Given the description of an element on the screen output the (x, y) to click on. 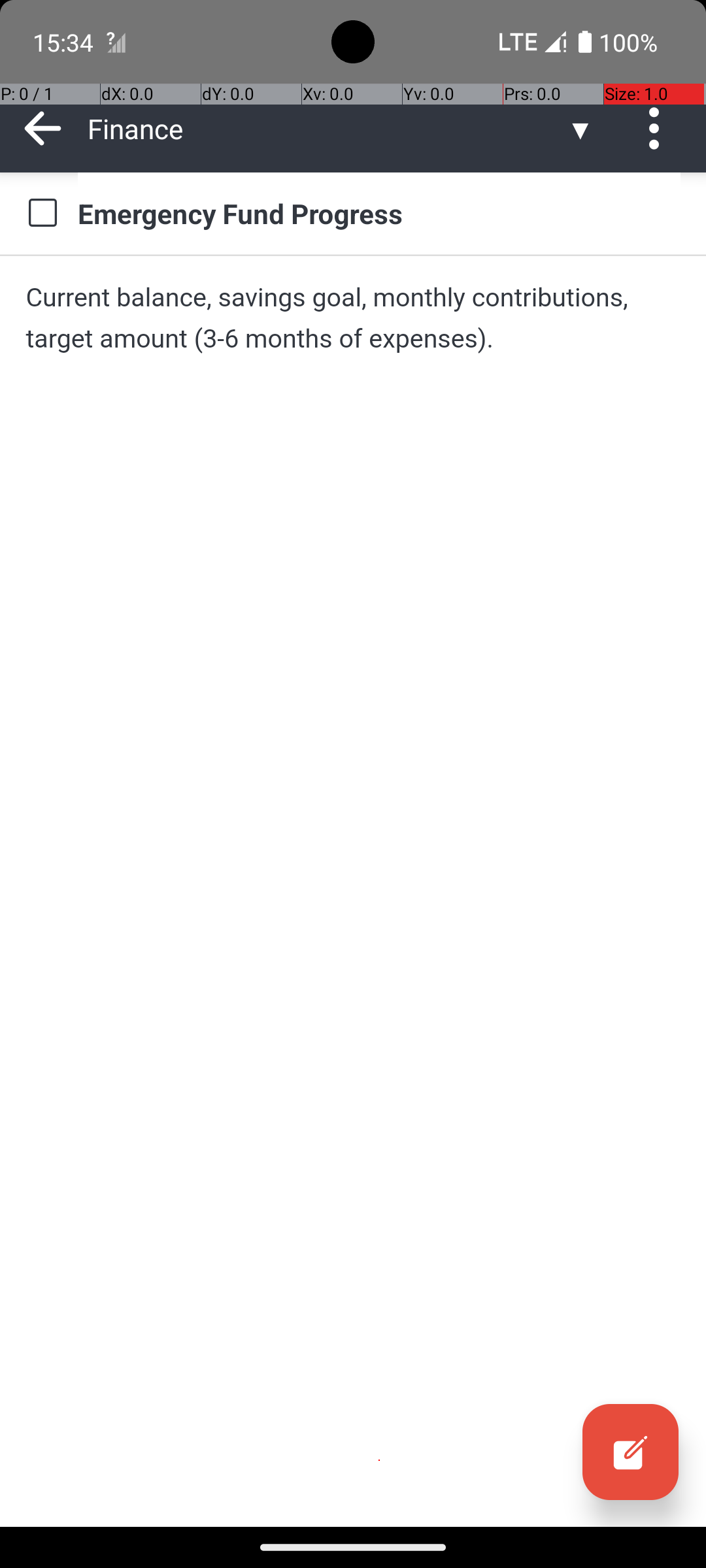
Emergency Fund Progress Element type: android.widget.EditText (378, 213)
Current balance, savings goal, monthly contributions, target amount (3-6 months of expenses). Element type: android.widget.TextView (352, 317)
